Given the description of an element on the screen output the (x, y) to click on. 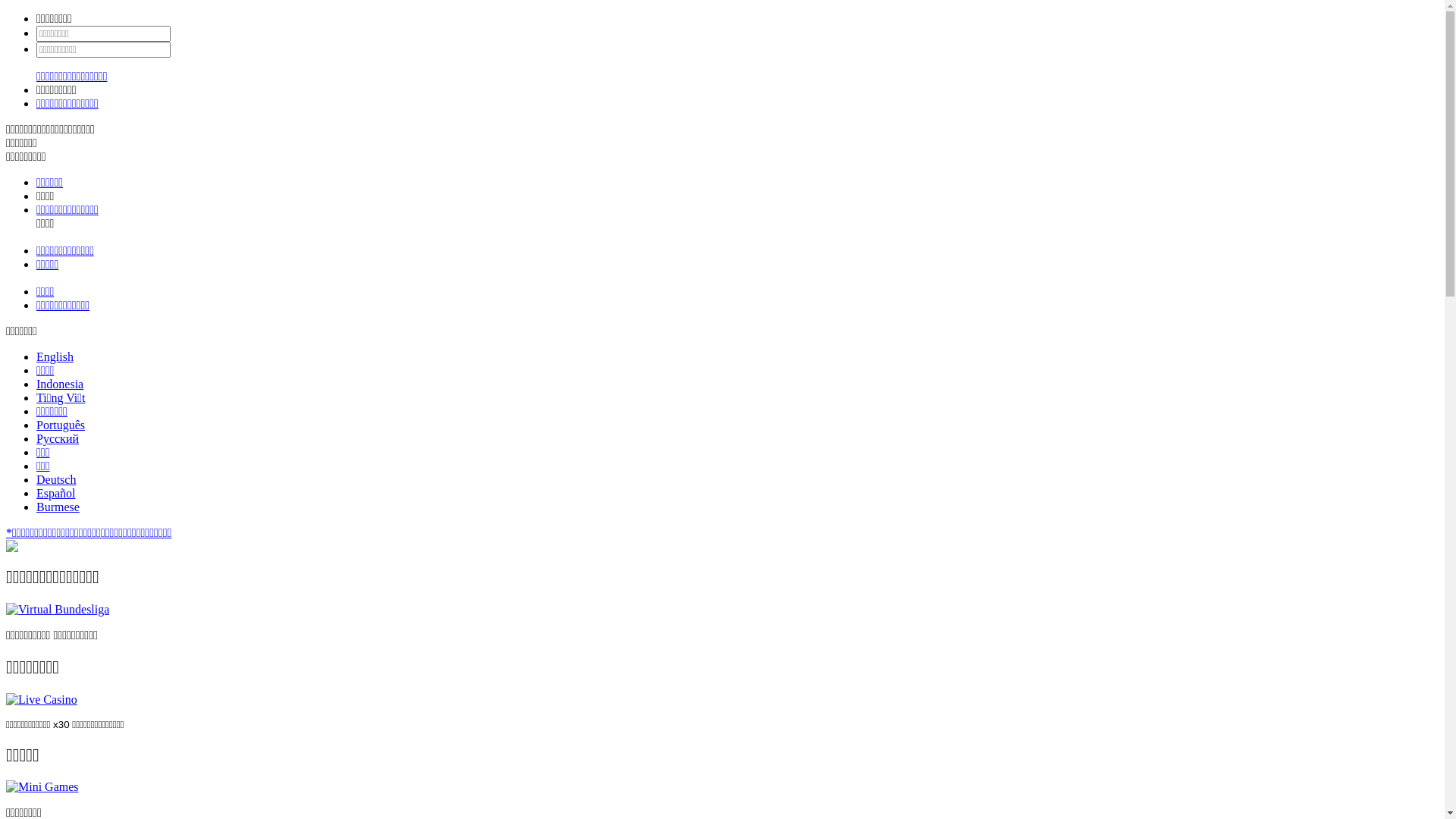
English Element type: text (54, 356)
Deutsch Element type: text (55, 479)
Indonesia Element type: text (59, 383)
Burmese Element type: text (57, 506)
